Given the description of an element on the screen output the (x, y) to click on. 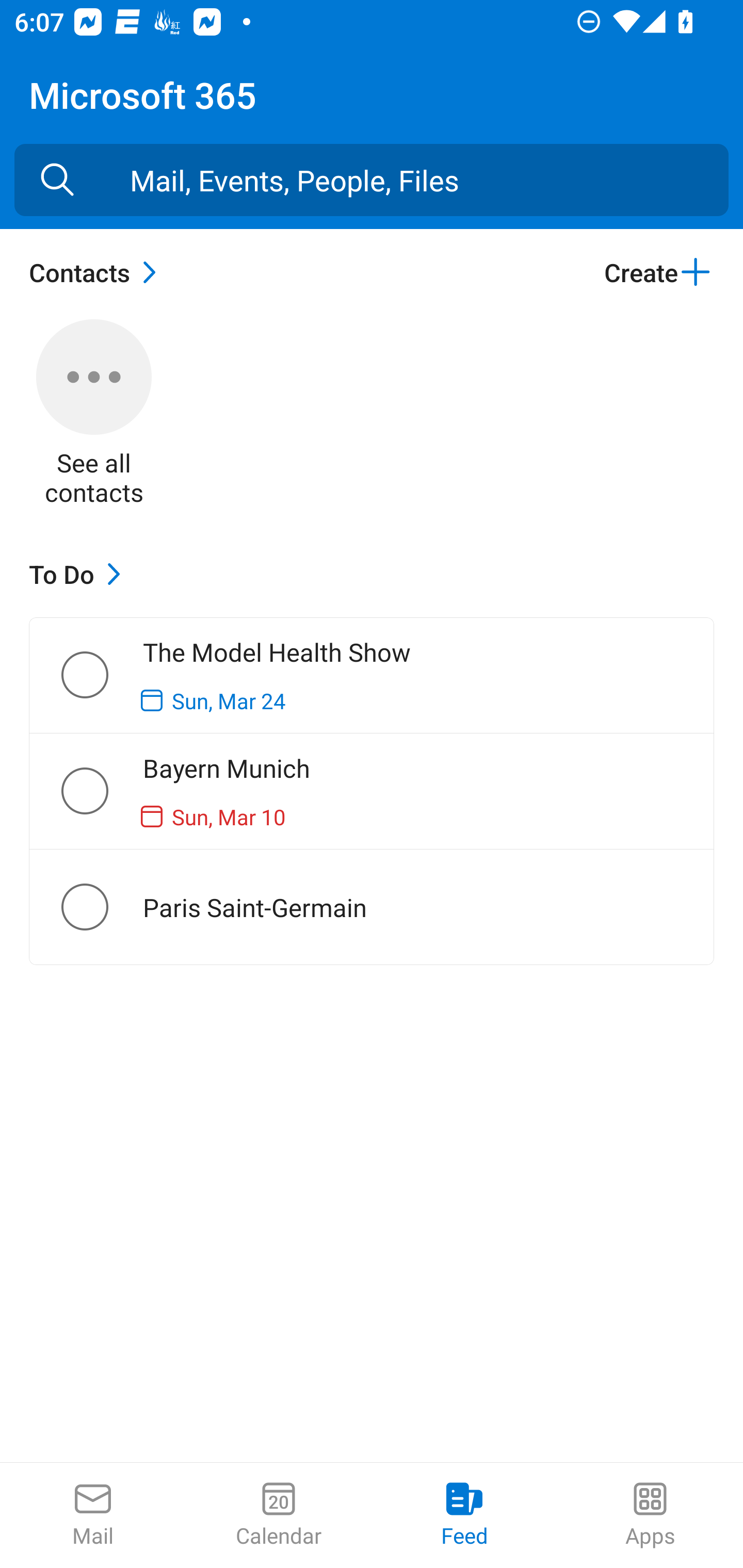
Search for Mail, Events, People, Files (57, 180)
Contacts (97, 271)
Create Create contact (658, 271)
See all contacts (93, 414)
To Do (79, 573)
The Model Health Show (101, 674)
Bayern Munich (101, 790)
Paris Saint-Germain (101, 906)
Mail (92, 1515)
Calendar (278, 1515)
Apps (650, 1515)
